Given the description of an element on the screen output the (x, y) to click on. 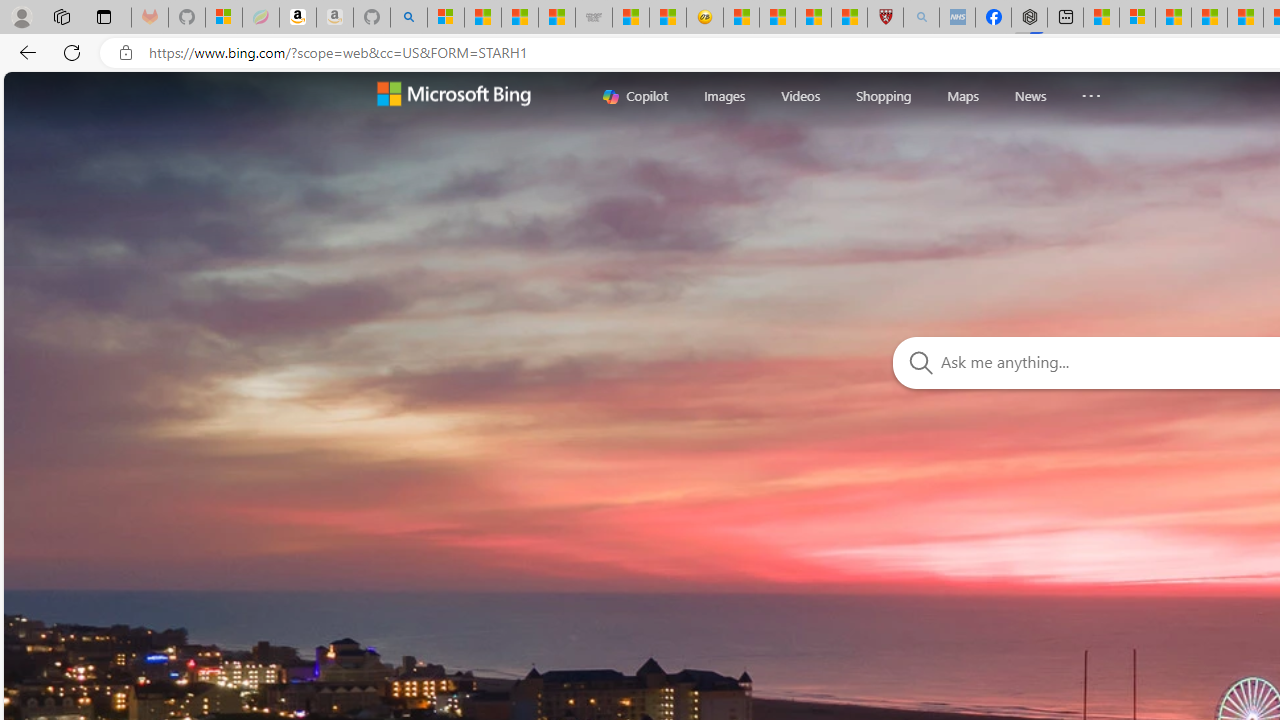
Shopping (883, 95)
Copilot (635, 95)
Copilot (635, 95)
14 Common Myths Debunked By Scientific Facts (1245, 17)
Videos (800, 95)
